Given the description of an element on the screen output the (x, y) to click on. 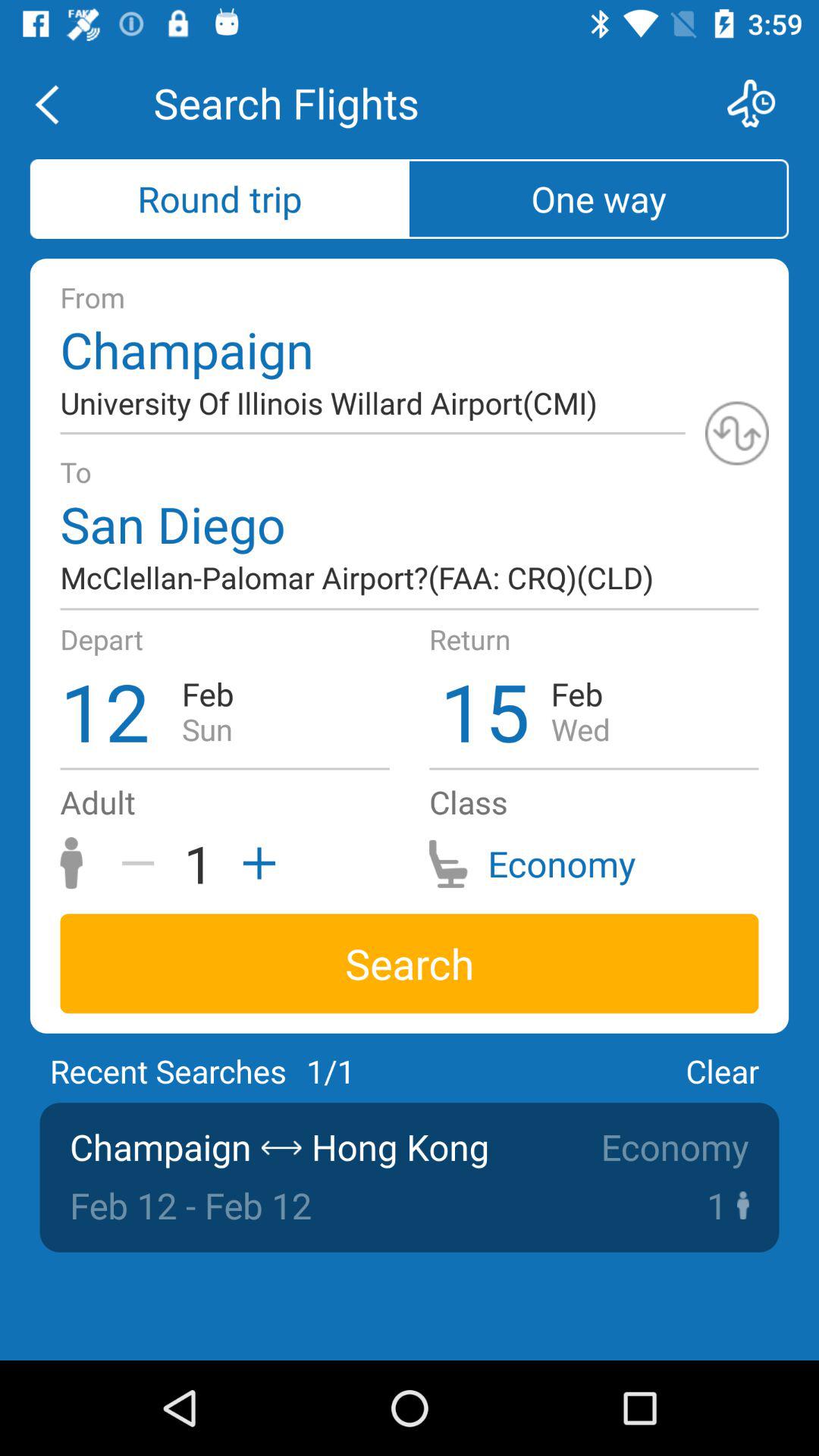
turn off item to the left of the 1 (143, 863)
